Given the description of an element on the screen output the (x, y) to click on. 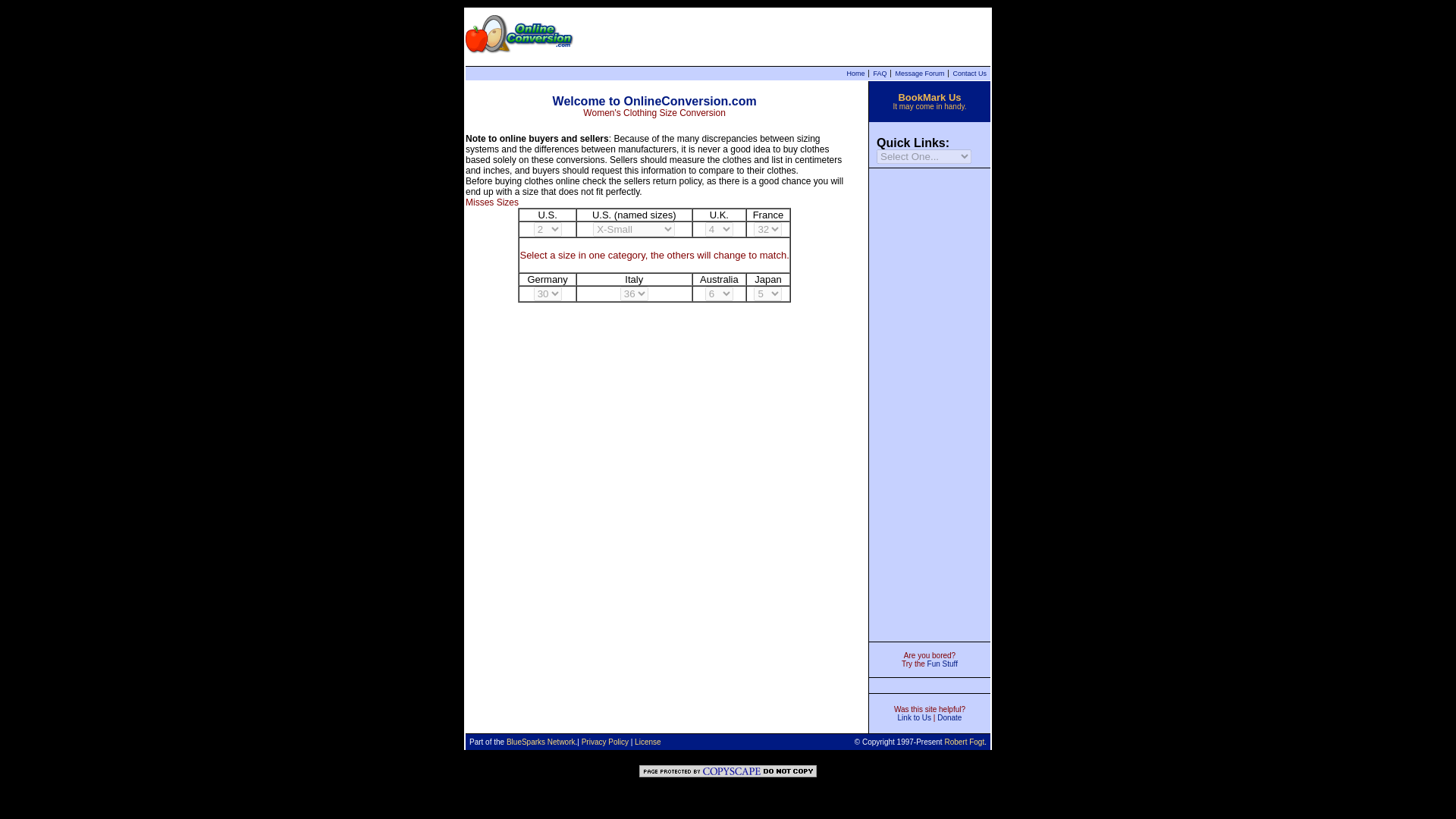
BlueSparks Network (540, 741)
Donate (948, 717)
Privacy Policy (604, 741)
Robert Fogt (963, 741)
Link to Us (914, 717)
Contact Us (969, 72)
Fun Stuff (942, 664)
Online Conversion (519, 35)
FAQ (879, 72)
Home (854, 72)
License (647, 741)
Message Forum (919, 72)
